Given the description of an element on the screen output the (x, y) to click on. 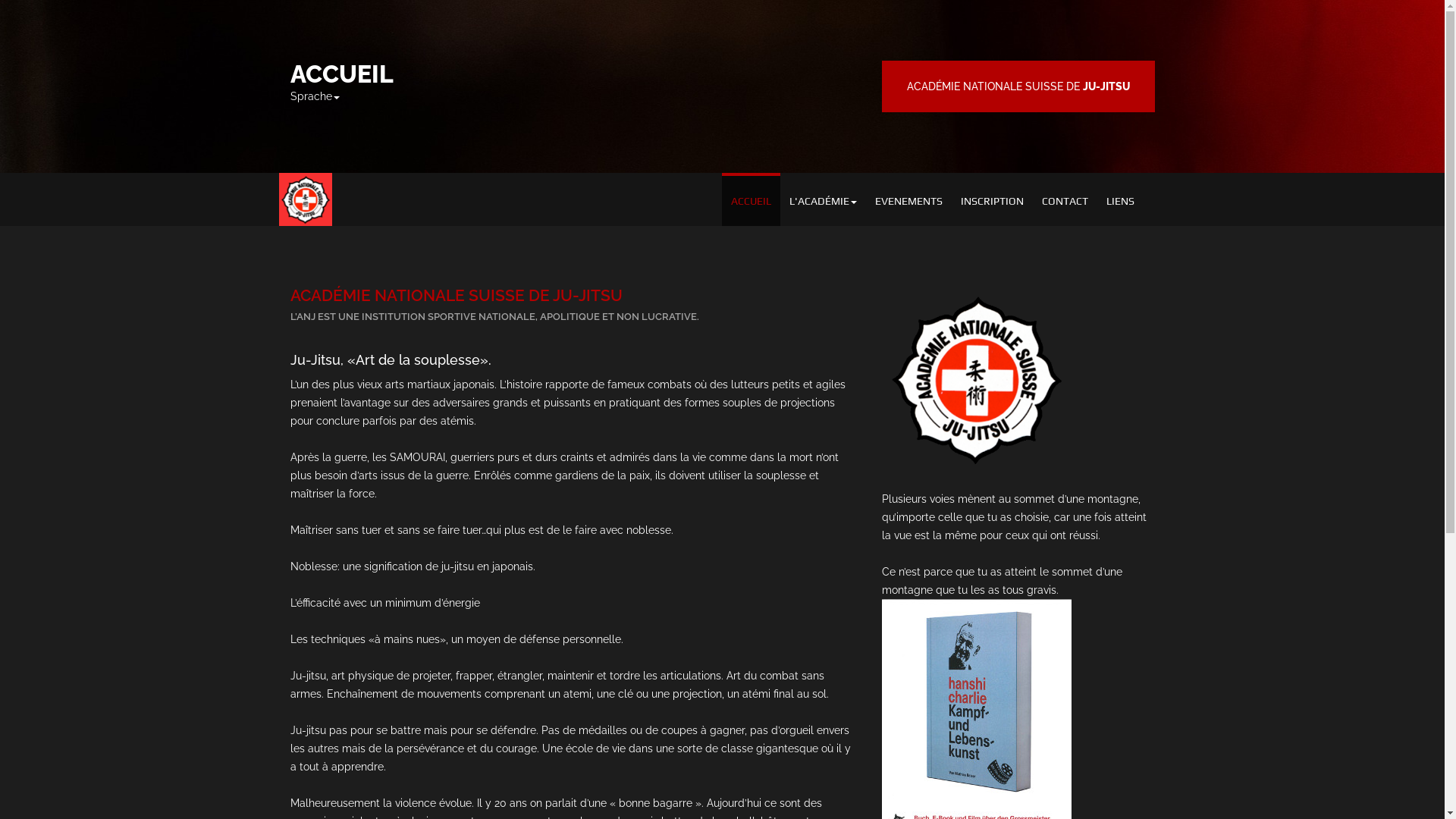
CONTACT Element type: text (1064, 198)
ACCUEIL Element type: text (750, 198)
Sprache Element type: text (313, 96)
INSCRIPTION Element type: text (991, 198)
LIENS Element type: text (1119, 198)
EVENEMENTS Element type: text (908, 198)
